Given the description of an element on the screen output the (x, y) to click on. 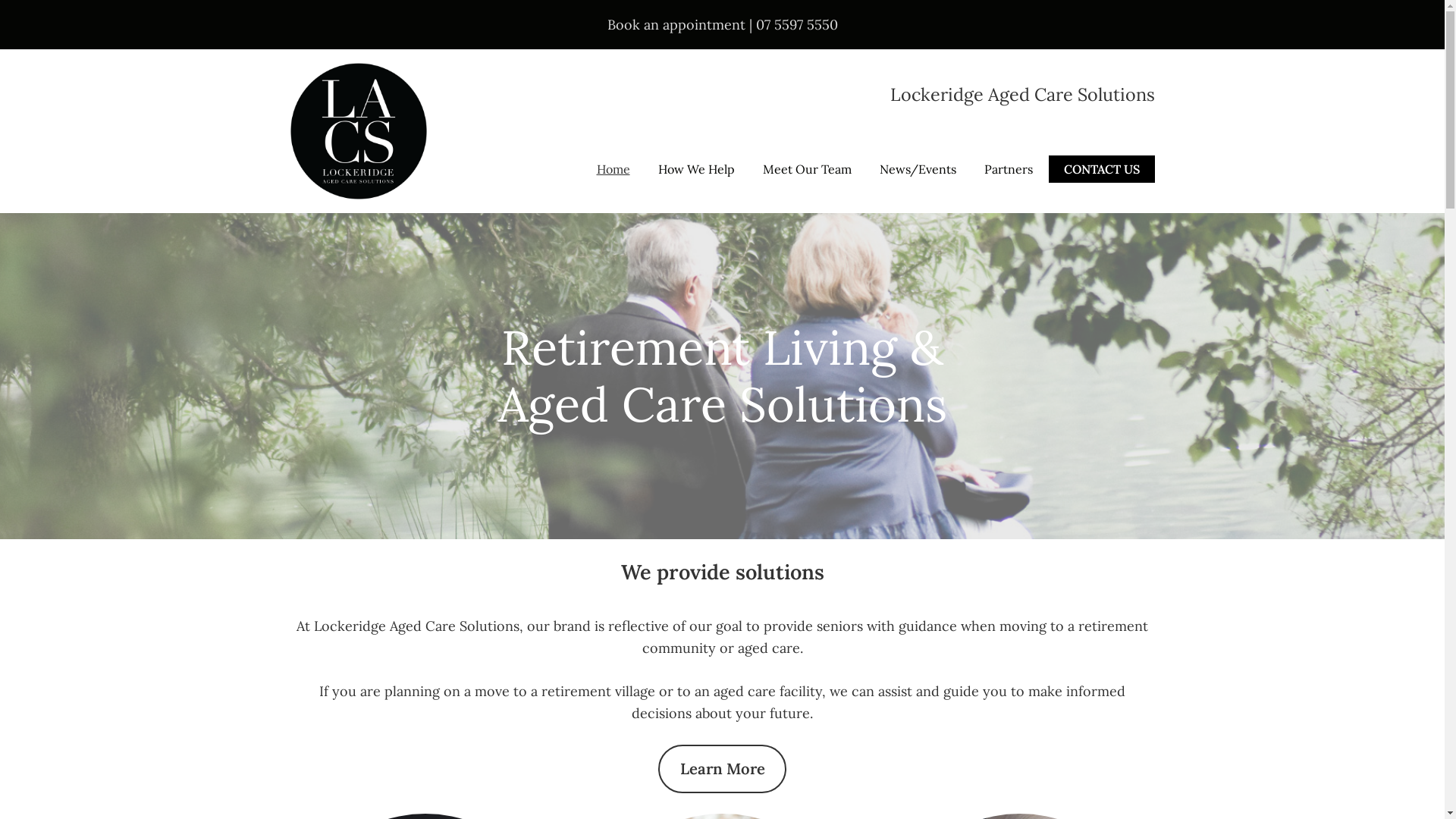
News/Events Element type: text (917, 169)
Aged Care Planning Experts Element type: hover (357, 73)
CONTACT US Element type: text (1101, 169)
Home Element type: text (612, 169)
Partners Element type: text (1008, 169)
How We Help Element type: text (696, 169)
Learn More Element type: text (722, 768)
Book an appointment | 07 5597 5550 Element type: text (721, 24)
Skip to primary navigation Element type: text (0, 0)
Meet Our Team Element type: text (806, 169)
